Given the description of an element on the screen output the (x, y) to click on. 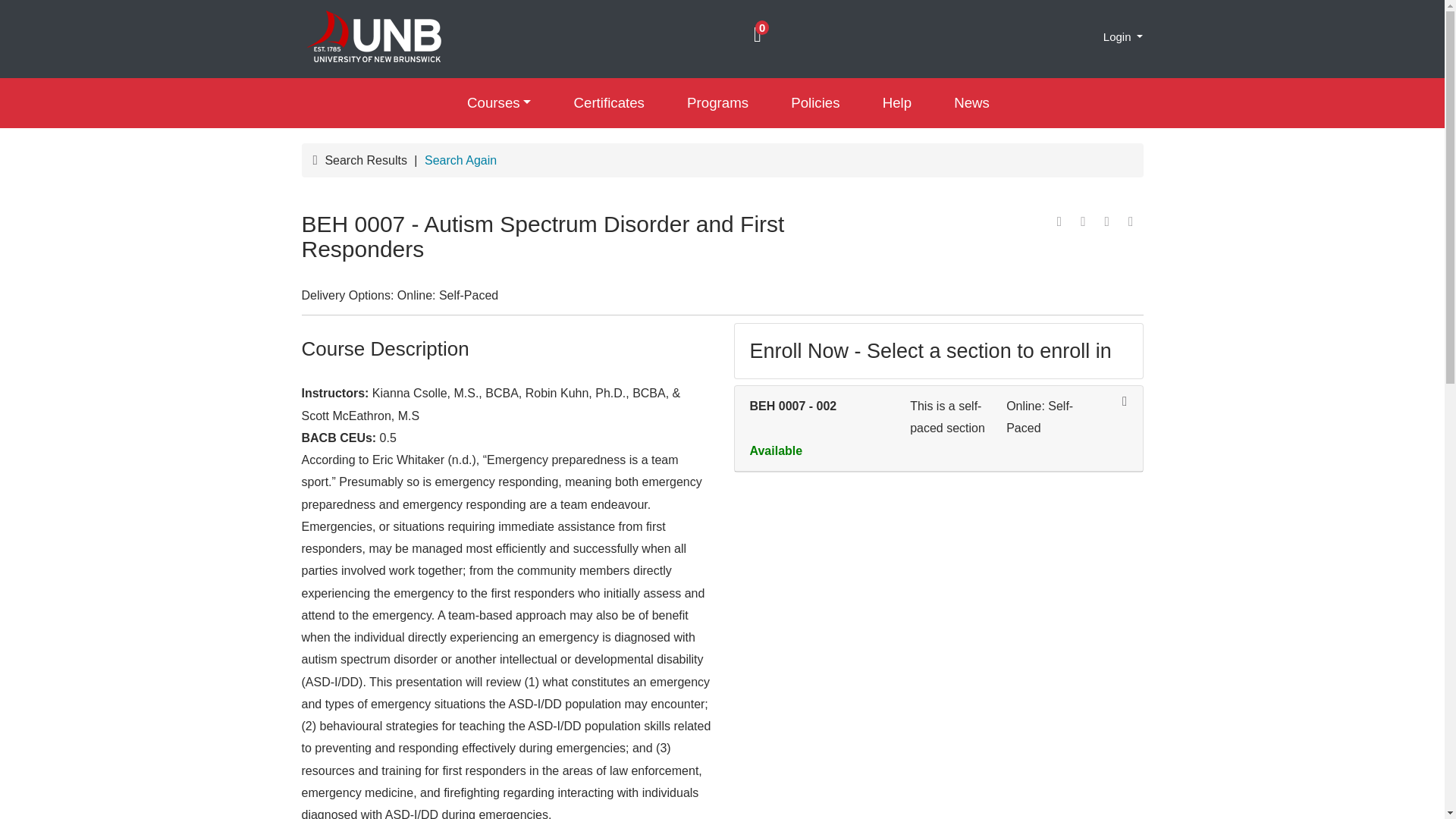
Policies (815, 103)
News (971, 103)
Search Results (366, 159)
Programs (717, 103)
Login (1122, 36)
Courses (498, 103)
Search Again (460, 159)
Help (897, 103)
Certificates (608, 103)
